Given the description of an element on the screen output the (x, y) to click on. 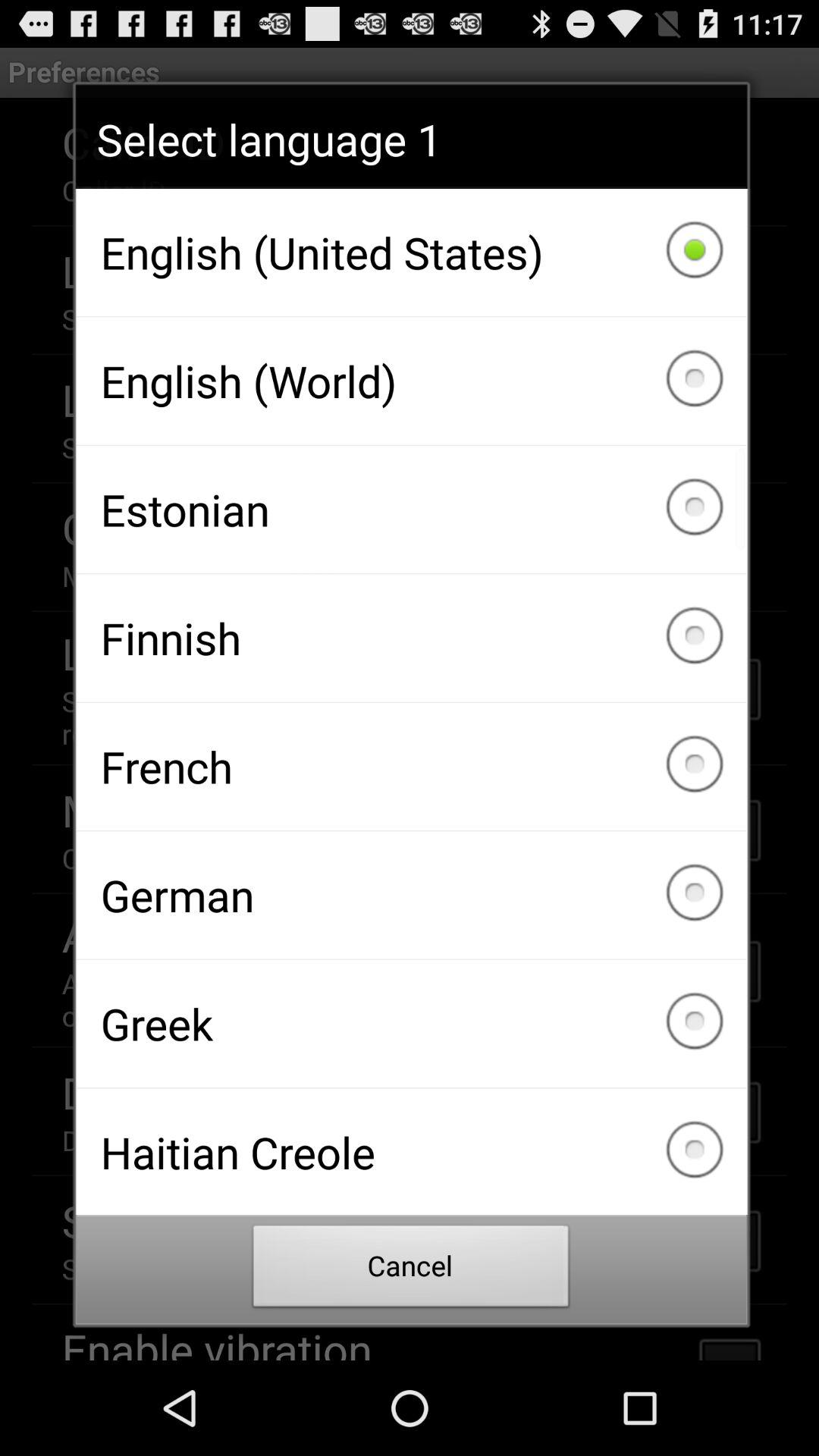
open cancel icon (410, 1270)
